Given the description of an element on the screen output the (x, y) to click on. 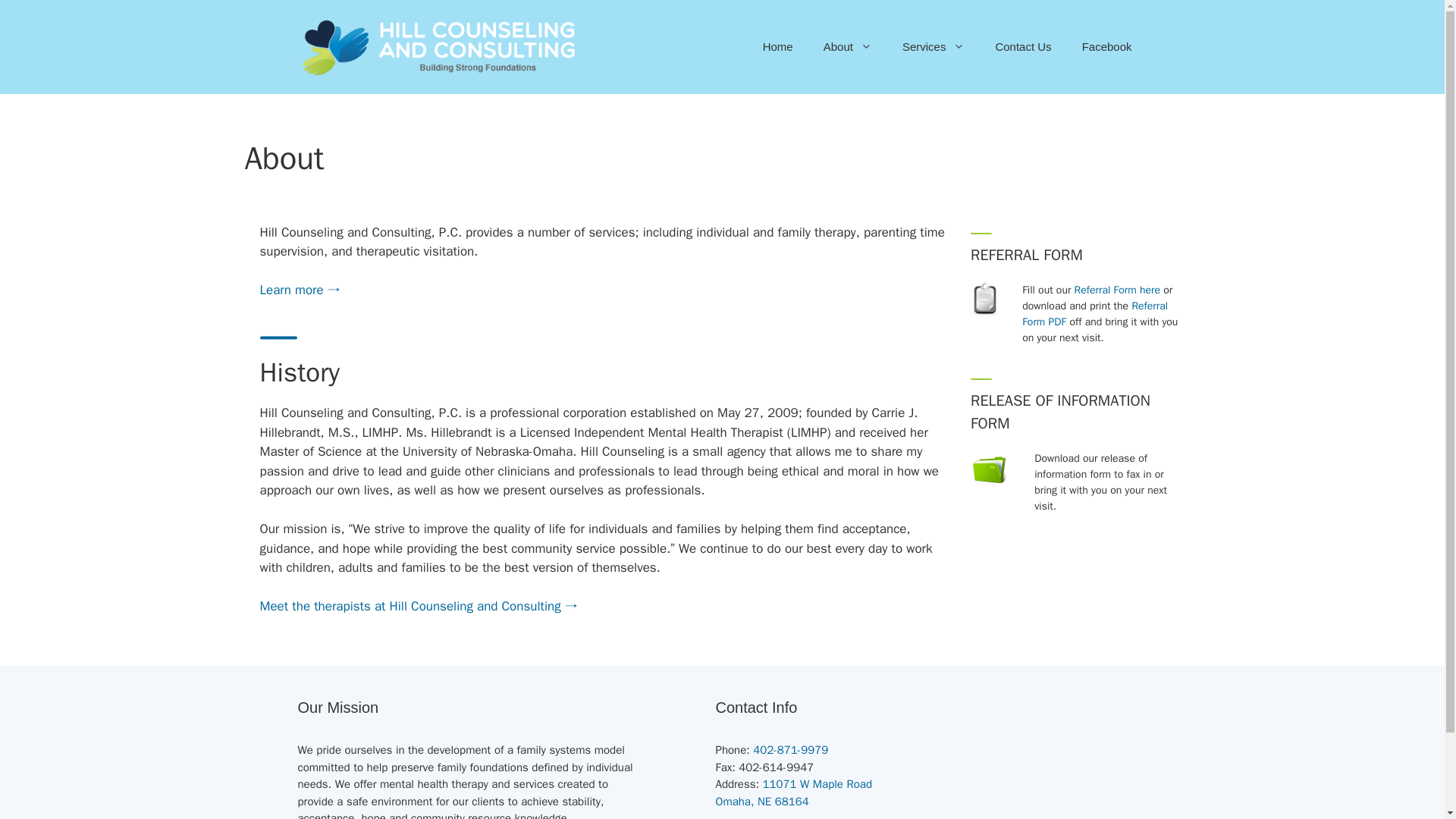
About (847, 46)
Services (932, 46)
Facebook (1107, 46)
Contact Us (1022, 46)
Hill Counseling Facebook (1107, 46)
Referral Form here (1117, 289)
Hill Counseling and Consulting (438, 45)
402-871-9979 (790, 749)
Hill Counseling and Consulting (794, 792)
Home (438, 46)
Referral Form PDF (778, 46)
